Given the description of an element on the screen output the (x, y) to click on. 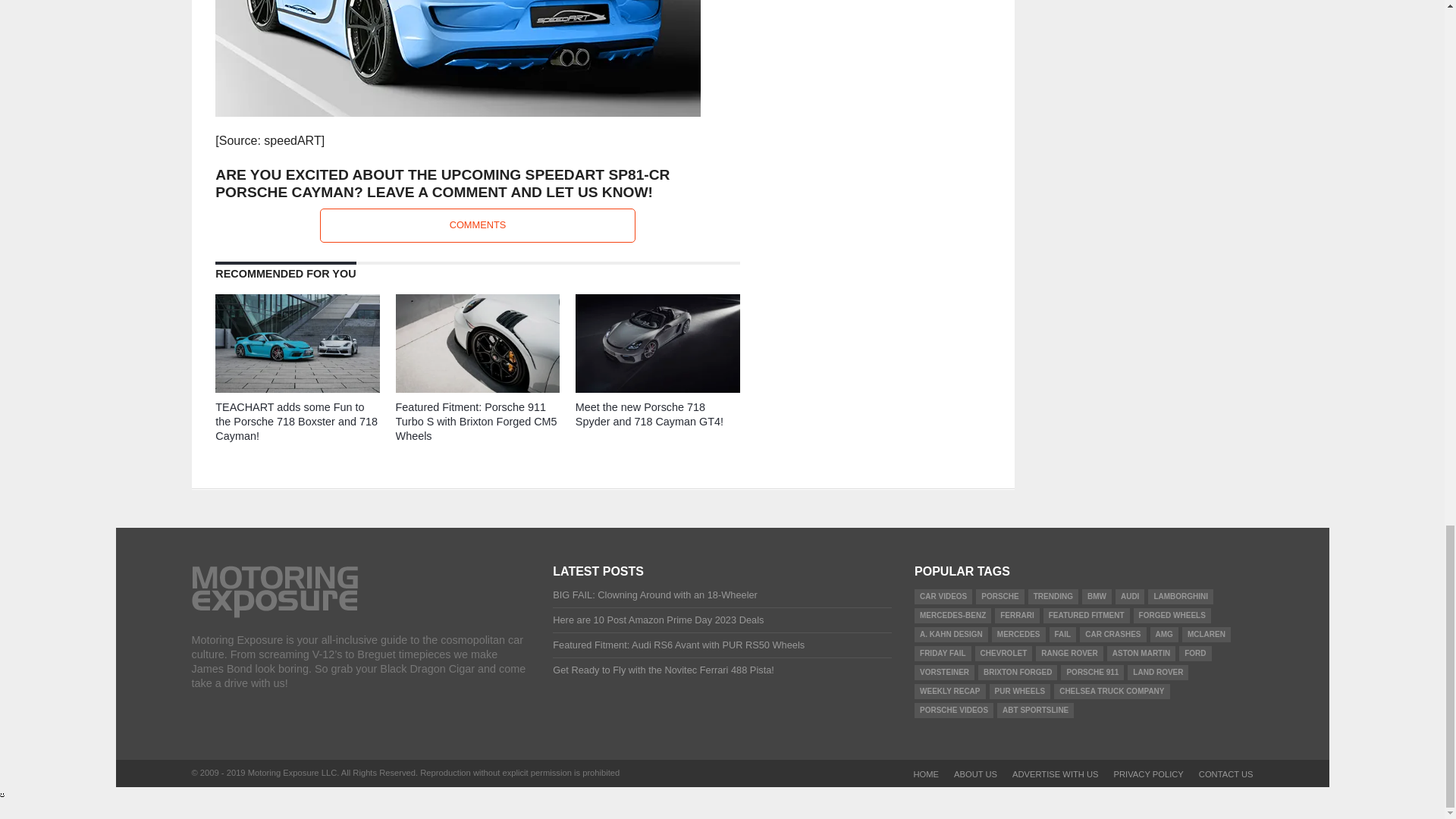
Meet the new Porsche 718 Spyder and 718 Cayman GT4! (649, 414)
Meet the new Porsche 718 Spyder and 718 Cayman GT4! (657, 388)
